Given the description of an element on the screen output the (x, y) to click on. 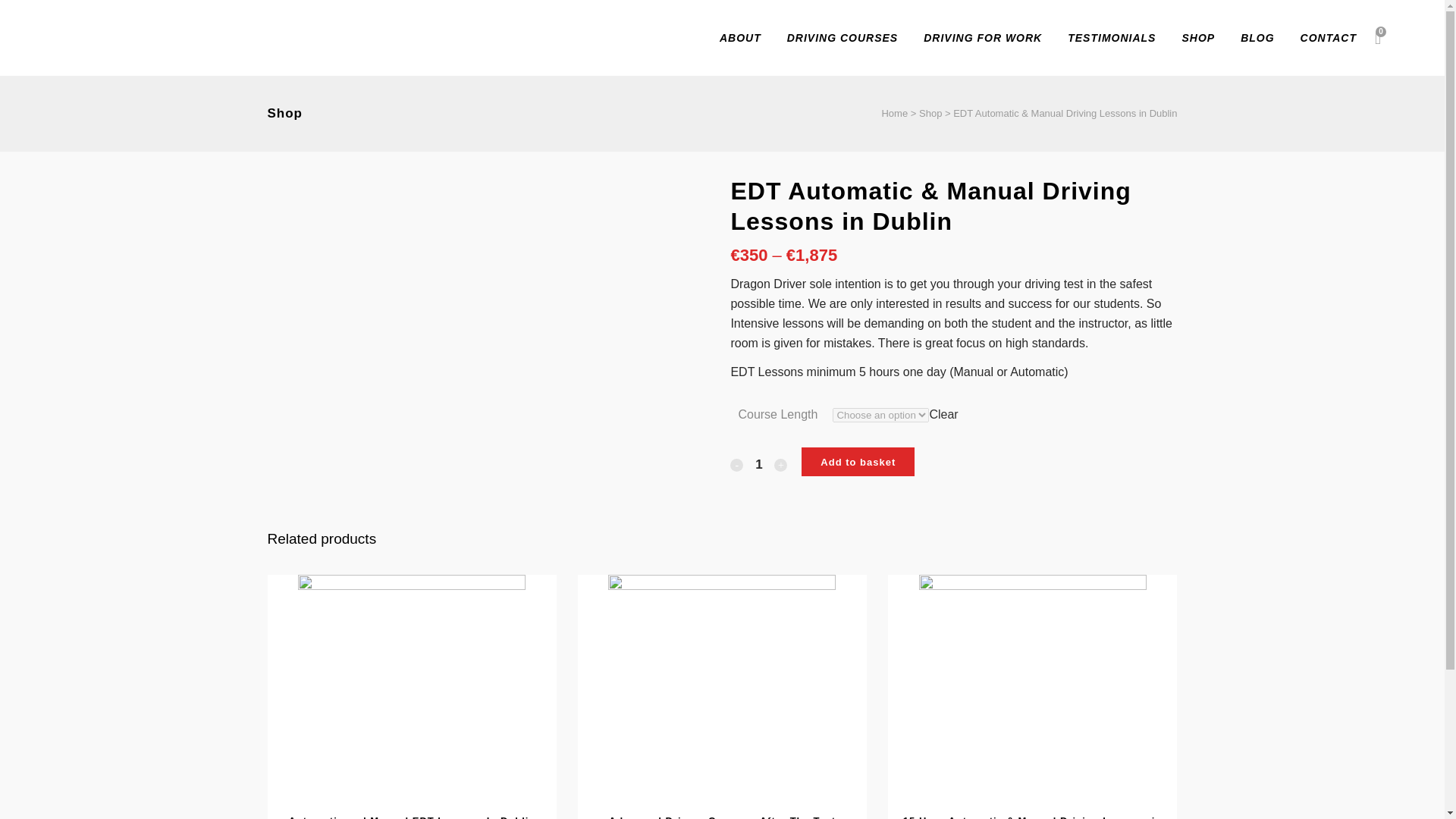
DRIVING FOR WORK (982, 38)
- (736, 464)
DRIVING COURSES (842, 38)
1 (758, 464)
CONTACT (1328, 38)
TESTIMONIALS (1111, 38)
Qty (758, 464)
ABOUT (740, 38)
